Given the description of an element on the screen output the (x, y) to click on. 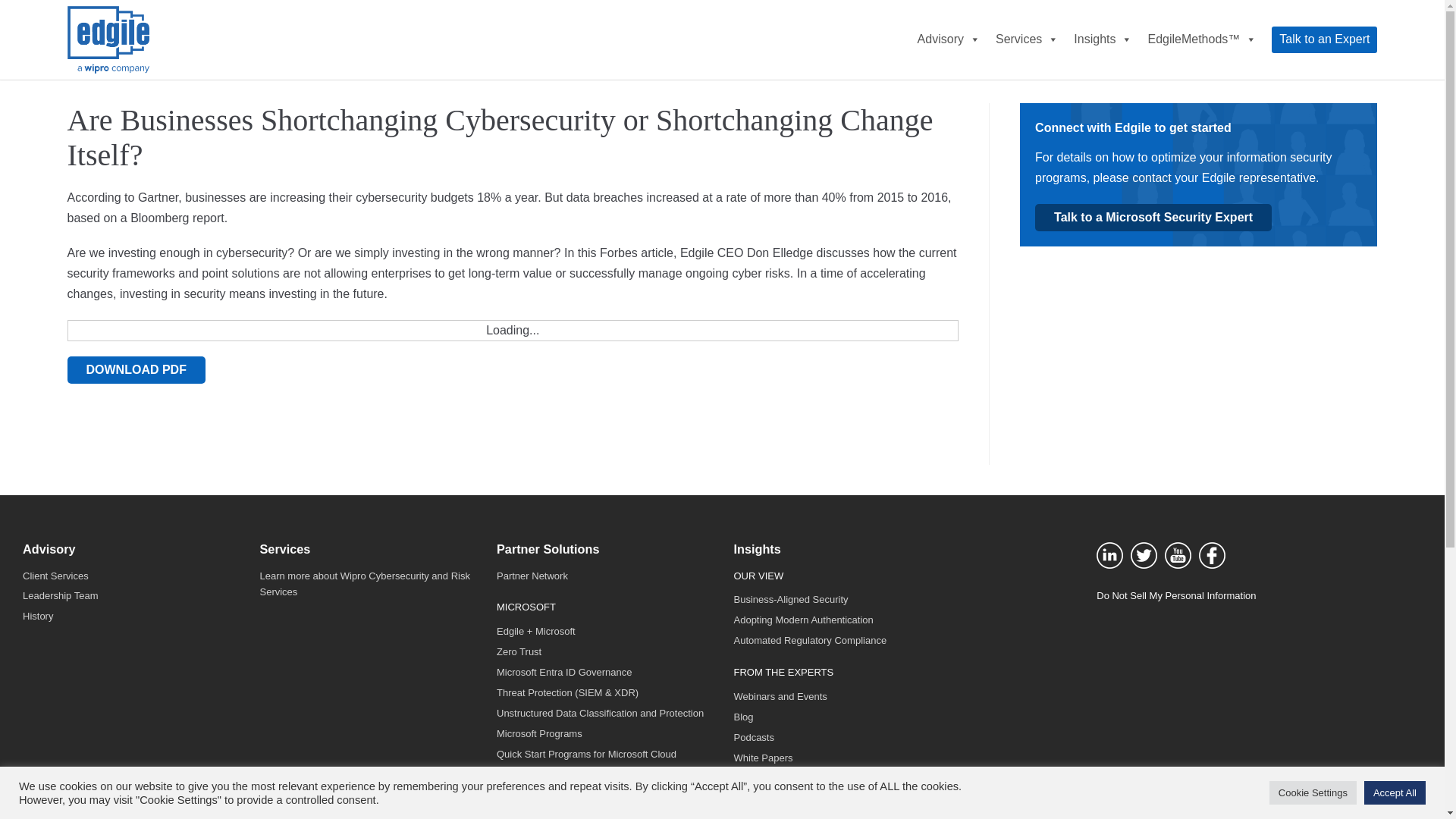
Services (1026, 39)
Edgile (107, 39)
Skip to content (15, 7)
Advisory (949, 39)
